Given the description of an element on the screen output the (x, y) to click on. 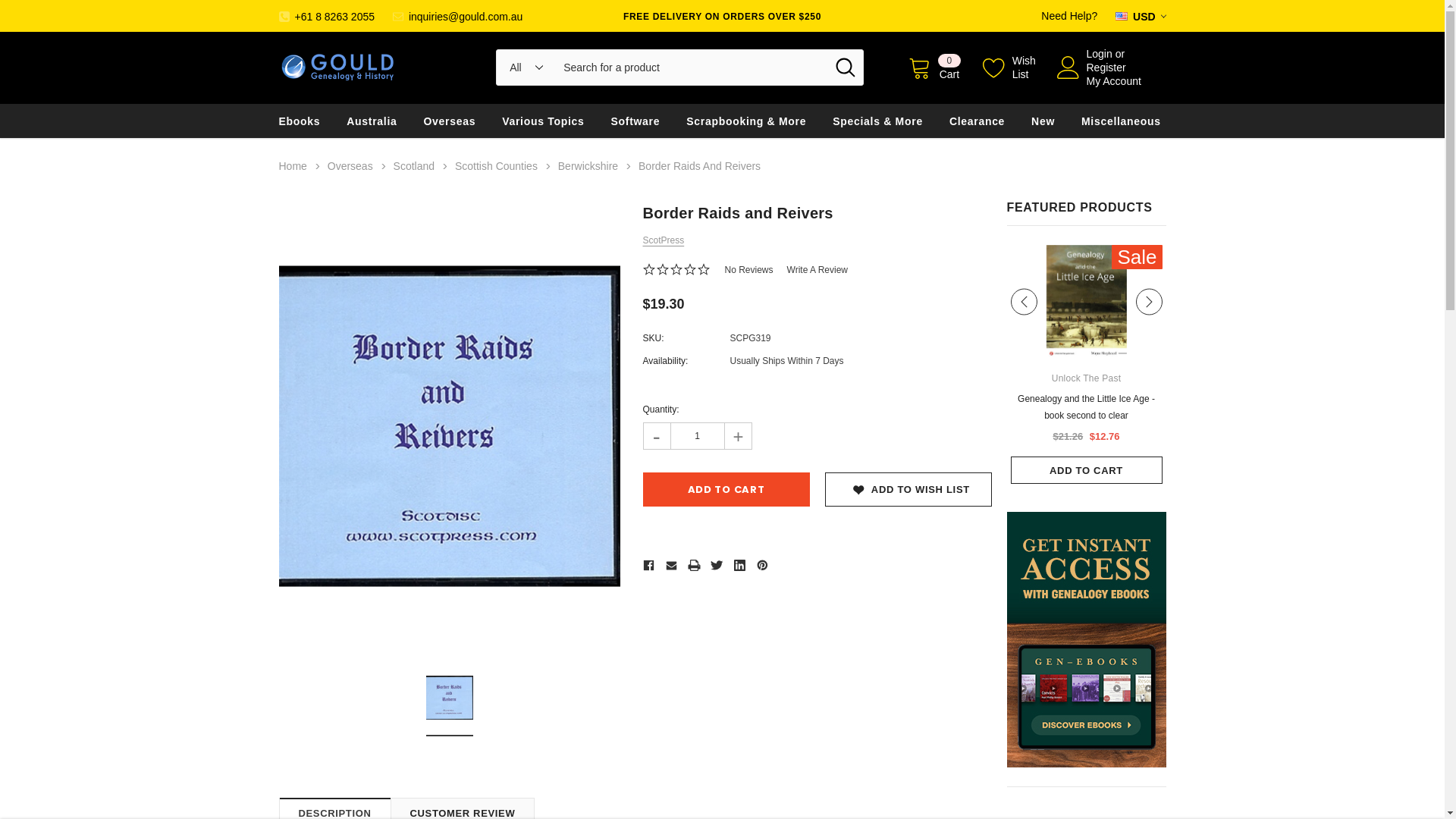
Software Element type: text (635, 121)
+ Element type: text (736, 435)
Specials & More Element type: text (877, 121)
Register Element type: text (1105, 67)
Need Help? Element type: text (1069, 15)
Scottish Counties Element type: text (496, 166)
Overseas Element type: text (350, 166)
0
Cart Element type: text (934, 67)
ScotPress Element type: text (663, 240)
Scotland Element type: text (413, 166)
Australia Element type: text (371, 121)
ADD TO CART Element type: text (1085, 469)
Border Raids And Reivers Element type: text (699, 166)
Genealogy and the Little Ice Age - book second to clear Element type: hover (1085, 301)
Write A Review Element type: text (817, 269)
inquiries@gould.com.au Element type: text (457, 16)
Wish List Element type: text (1008, 67)
Ebooks Element type: text (299, 121)
My Account Element type: text (1112, 80)
+61 8 8263 2055 Element type: text (327, 16)
Clearance Element type: text (976, 121)
Miscellaneous Element type: text (1121, 121)
USD Element type: text (1140, 16)
Scrapbooking & More Element type: text (746, 121)
- Element type: text (656, 435)
Add to Cart Element type: text (726, 489)
Genealogy and the Little Ice Age - book second to clear Element type: text (1085, 406)
Overseas Element type: text (449, 121)
Berwickshire Element type: text (588, 166)
Login Element type: text (1098, 53)
Border Raids and Reivers Element type: hover (449, 697)
Home Element type: text (293, 166)
New Element type: text (1042, 121)
ADD TO WISH LIST Element type: text (908, 489)
Various Topics Element type: text (542, 121)
Gould Genealogy & History Element type: hover (337, 67)
